Given the description of an element on the screen output the (x, y) to click on. 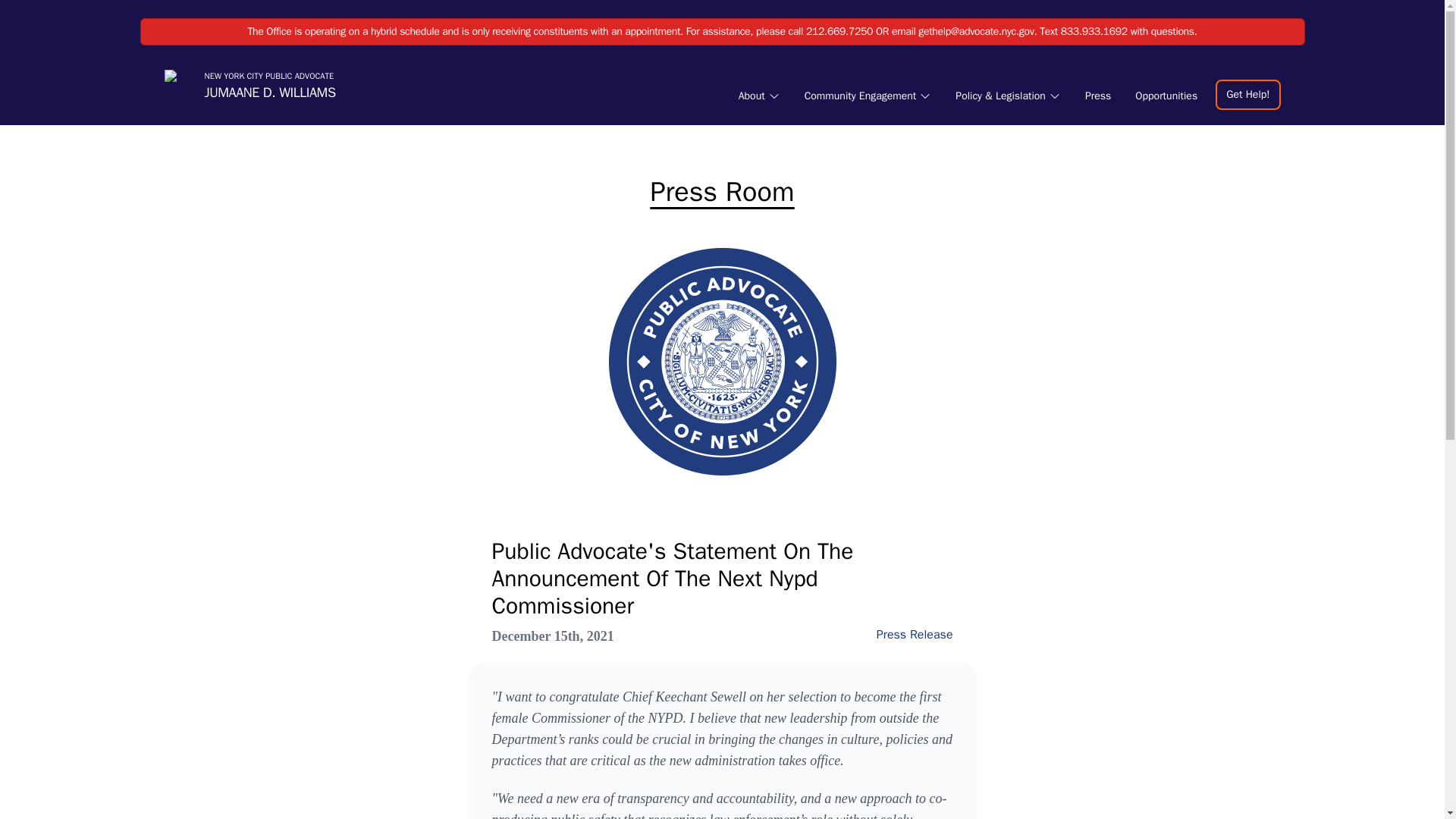
About (759, 95)
Press Room (722, 191)
Press (1097, 95)
Opportunities (1166, 95)
Community Engagement (867, 95)
Get Help! (1247, 93)
